Given the description of an element on the screen output the (x, y) to click on. 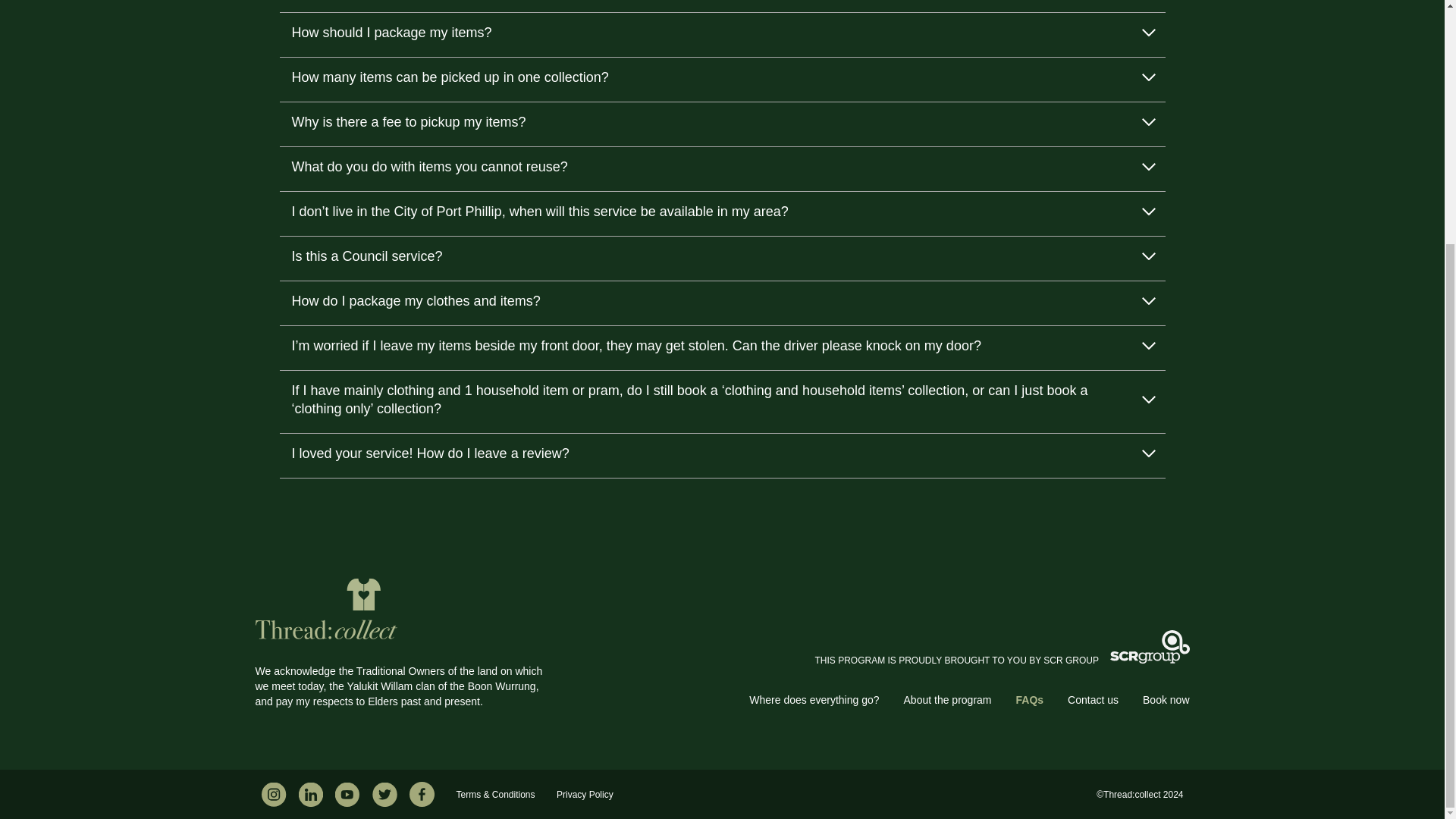
Book now (1165, 699)
About the program (947, 699)
How many collections can I book? (721, 6)
How many items can be picked up in one collection? (721, 79)
FAQs (1029, 699)
Where does everything go? (814, 699)
How should I package my items? (721, 35)
What do you do with items you cannot reuse? (721, 169)
I loved your service! How do I leave a review? (721, 456)
Contact us (1092, 699)
